Given the description of an element on the screen output the (x, y) to click on. 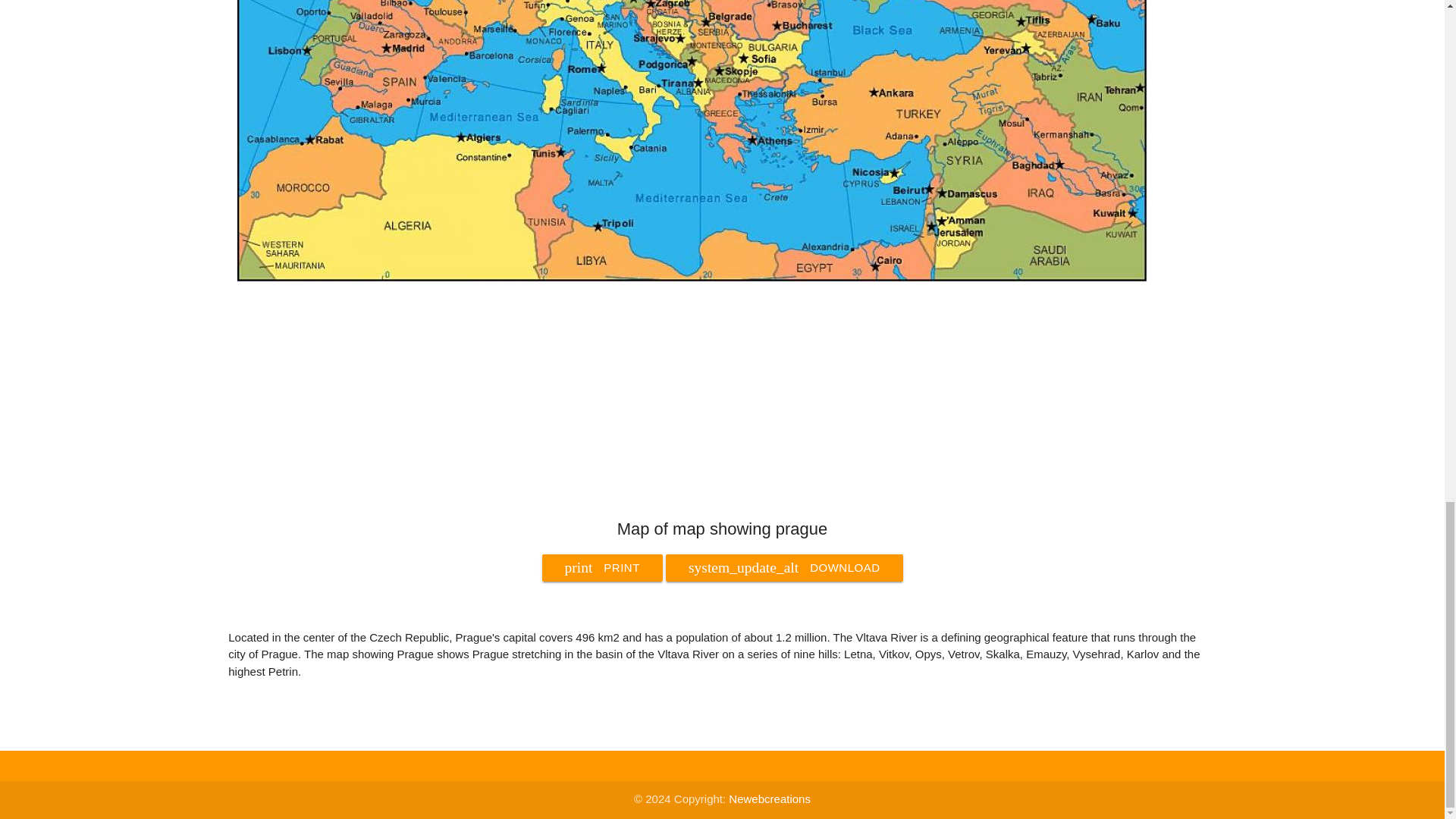
Map showing prague to print (601, 567)
map of map showing prague (601, 567)
Newebcreations (691, 277)
Map showing prague to download (769, 798)
Advertisement (783, 567)
